Given the description of an element on the screen output the (x, y) to click on. 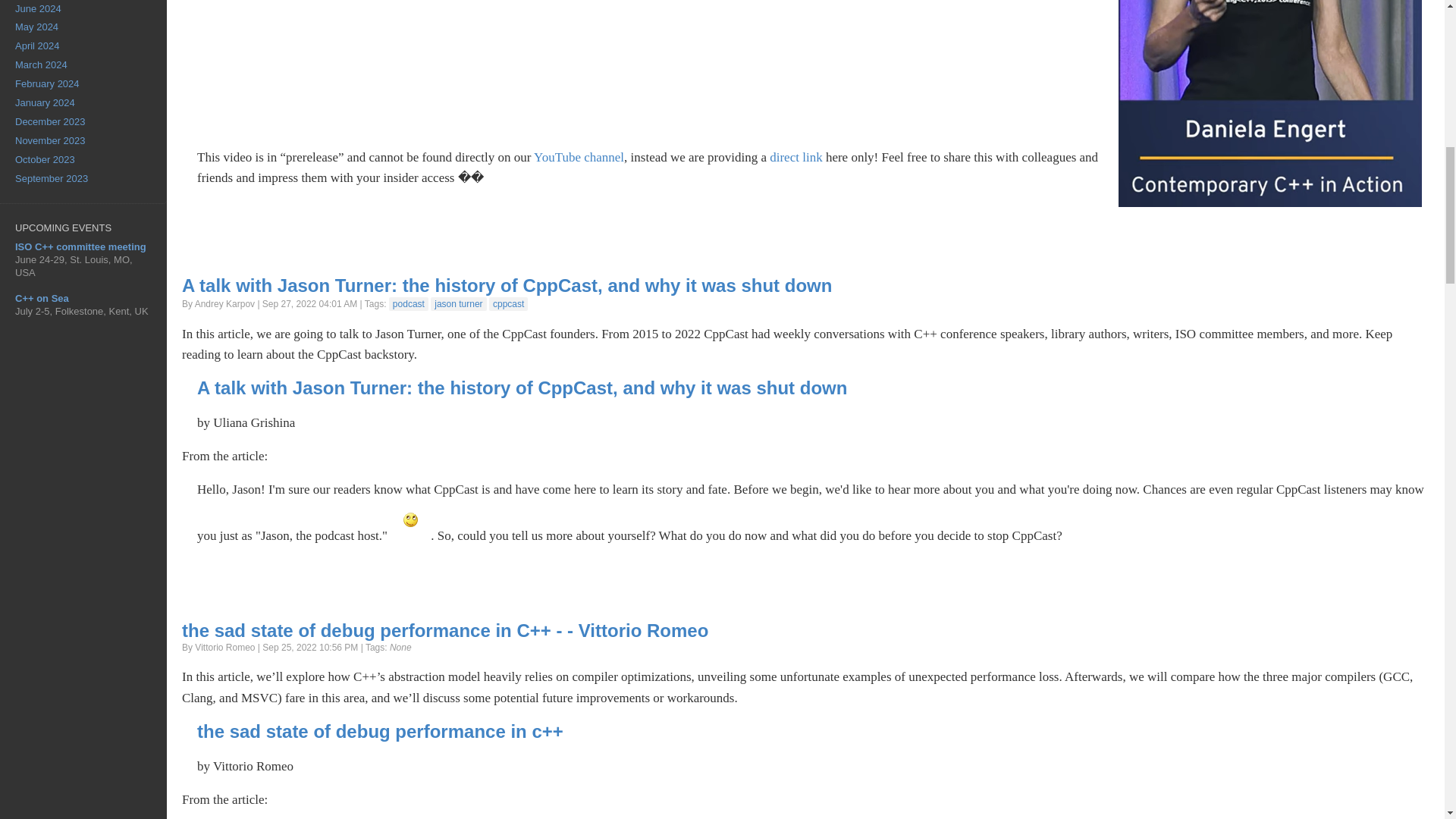
June 2024 (83, 9)
May 2024 (83, 27)
April 2024 (83, 46)
